Given the description of an element on the screen output the (x, y) to click on. 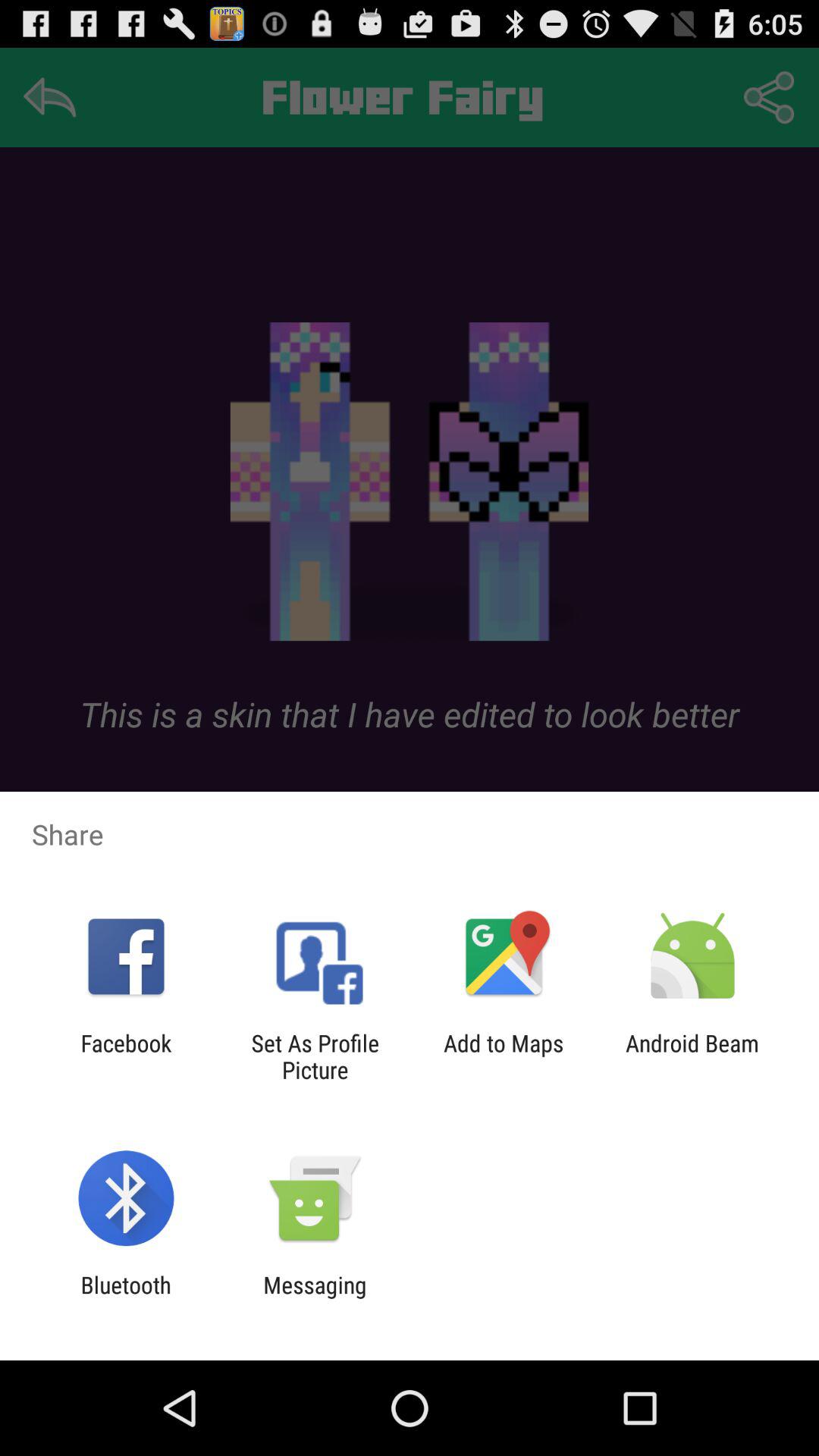
turn on icon to the left of the set as profile app (125, 1056)
